Given the description of an element on the screen output the (x, y) to click on. 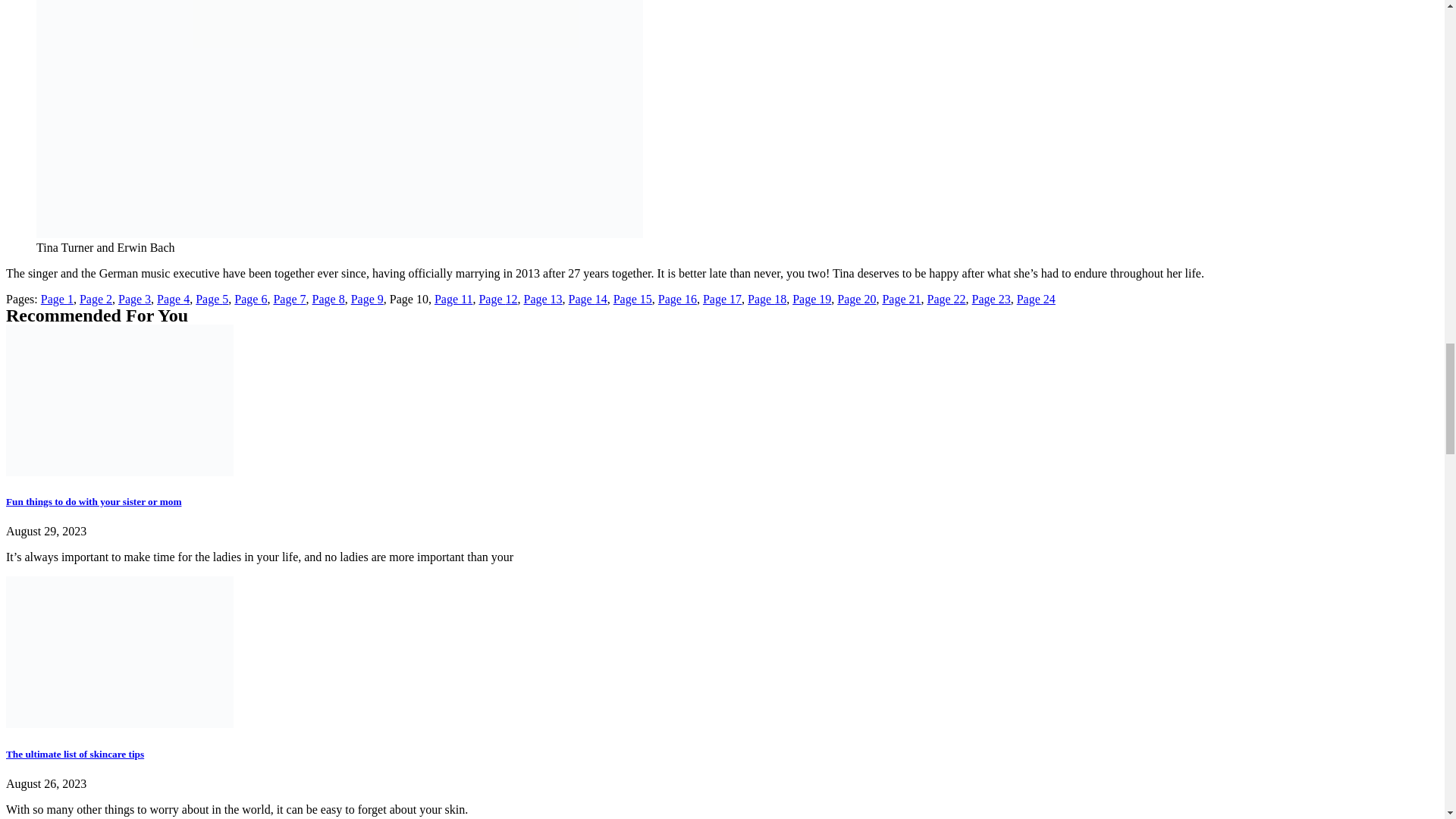
Fun things to do with your sister or mom (92, 501)
Page 6 (250, 298)
Page 16 (677, 298)
Page 2 (96, 298)
Page 3 (134, 298)
Page 8 (329, 298)
Page 20 (856, 298)
Page 15 (632, 298)
Page 1 (57, 298)
Page 12 (497, 298)
Page 18 (767, 298)
Page 11 (453, 298)
Page 4 (173, 298)
Page 14 (588, 298)
Page 21 (901, 298)
